Given the description of an element on the screen output the (x, y) to click on. 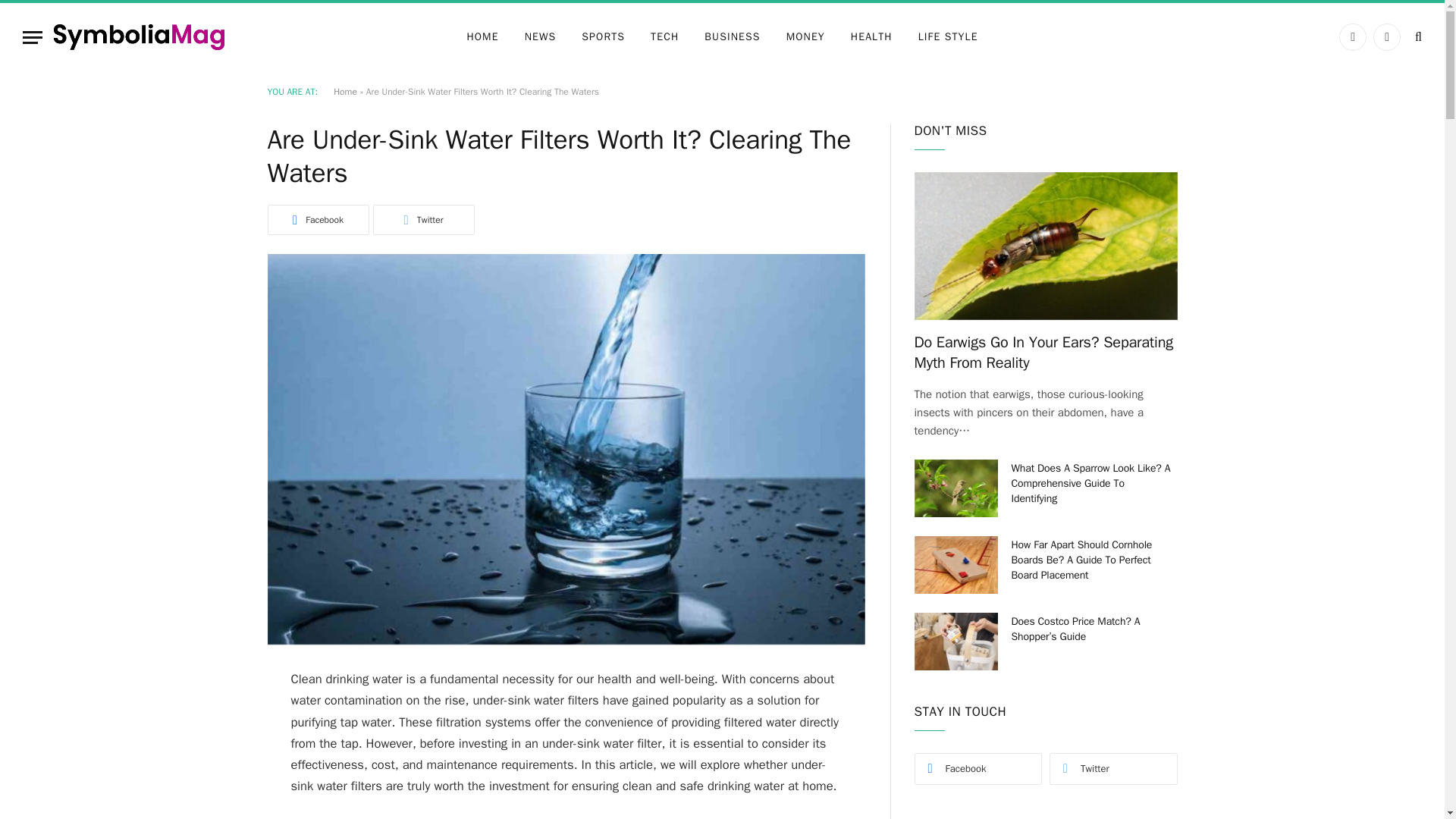
HEALTH (871, 37)
Twitter (423, 219)
Symboli Mag (138, 36)
Share on Facebook (317, 219)
LIFE STYLE (948, 37)
Home (344, 91)
Facebook (1353, 36)
BUSINESS (732, 37)
MONEY (805, 37)
SPORTS (603, 37)
Facebook (317, 219)
